Given the description of an element on the screen output the (x, y) to click on. 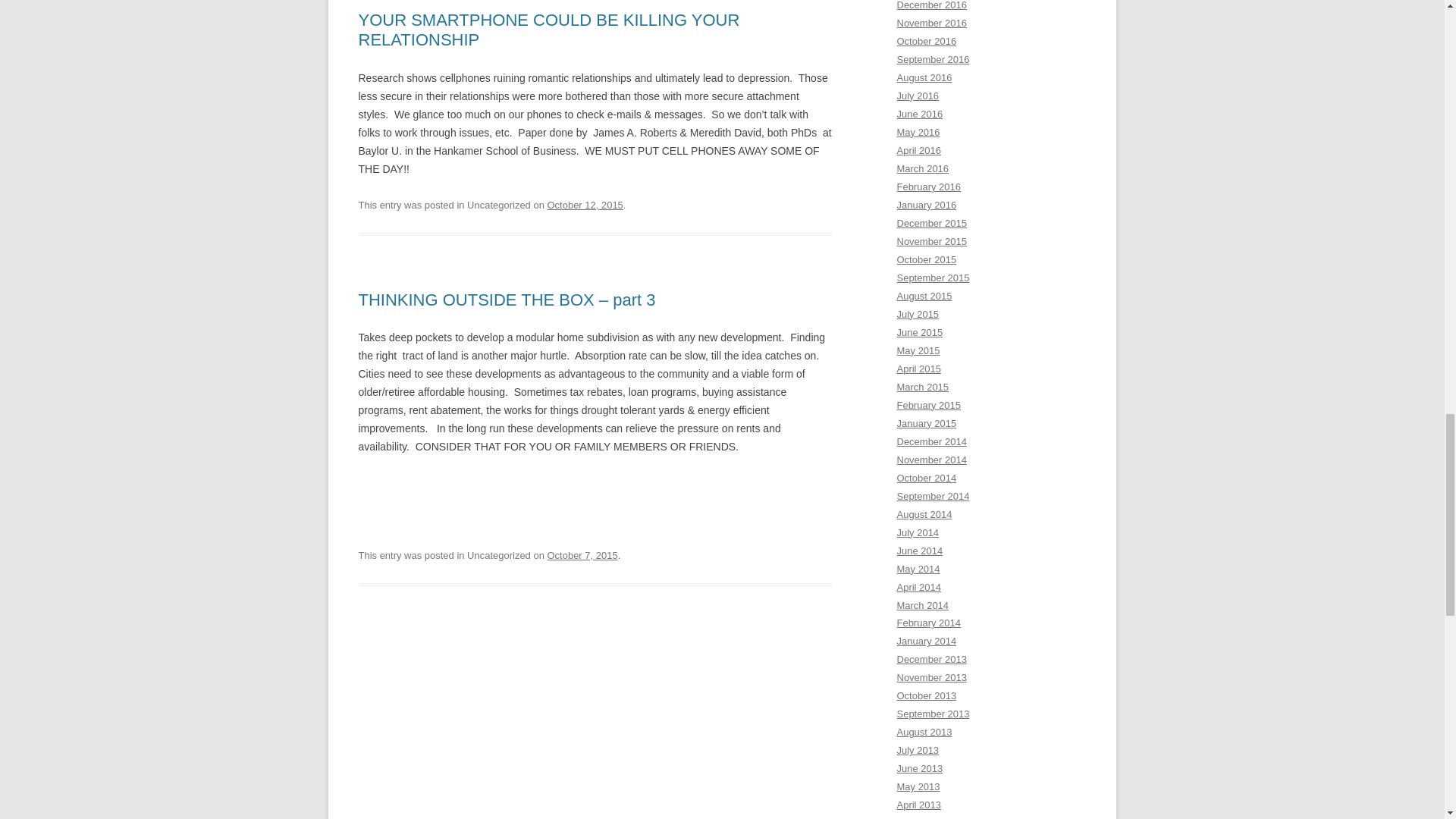
October 7, 2015 (582, 555)
October 12, 2015 (585, 204)
11:36 pm (585, 204)
8:49 pm (582, 555)
YOUR SMARTPHONE COULD BE KILLING YOUR RELATIONSHIP (548, 29)
